Given the description of an element on the screen output the (x, y) to click on. 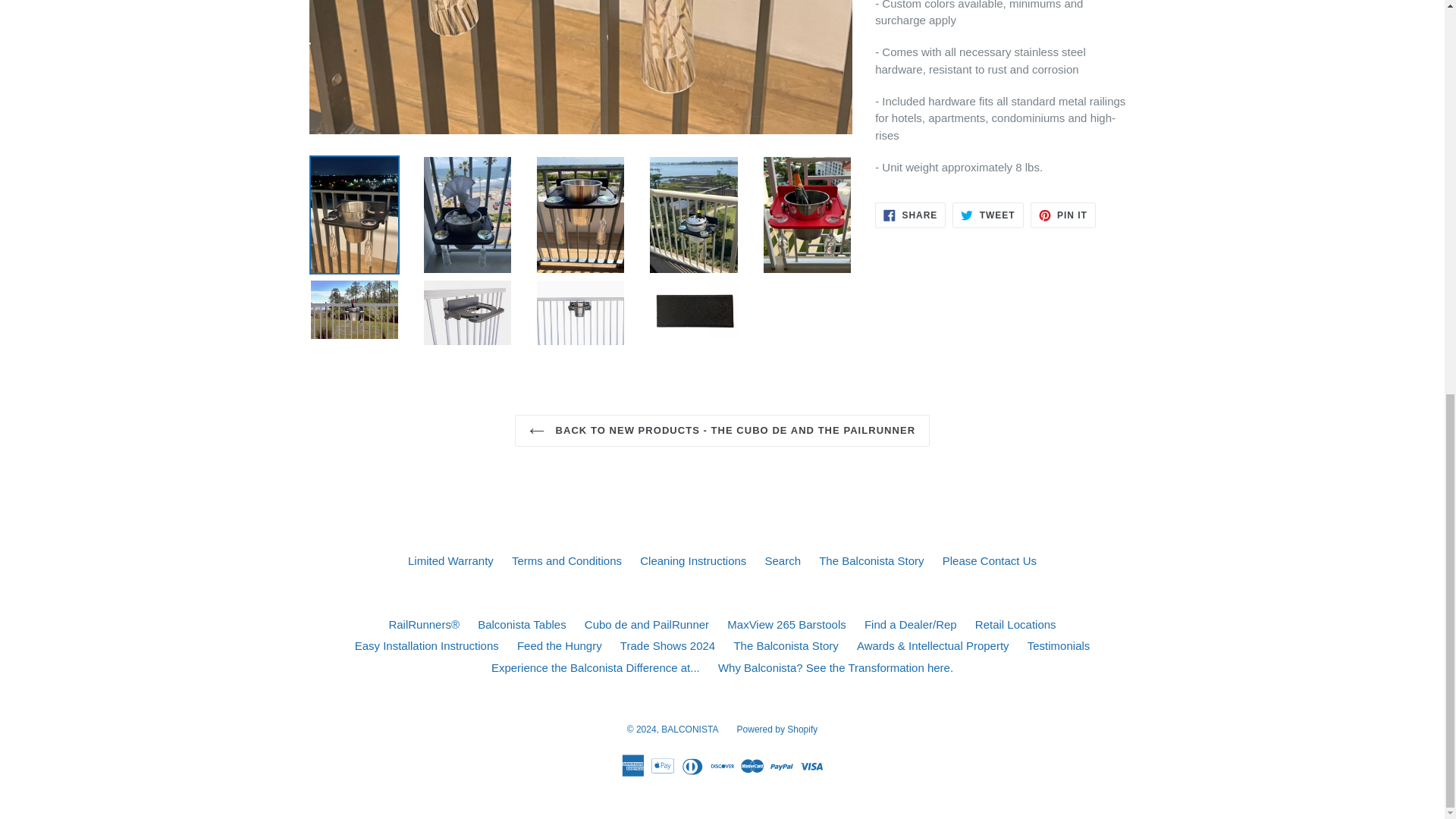
Pin on Pinterest (1063, 215)
Share on Facebook (909, 215)
Tweet on Twitter (987, 215)
